Given the description of an element on the screen output the (x, y) to click on. 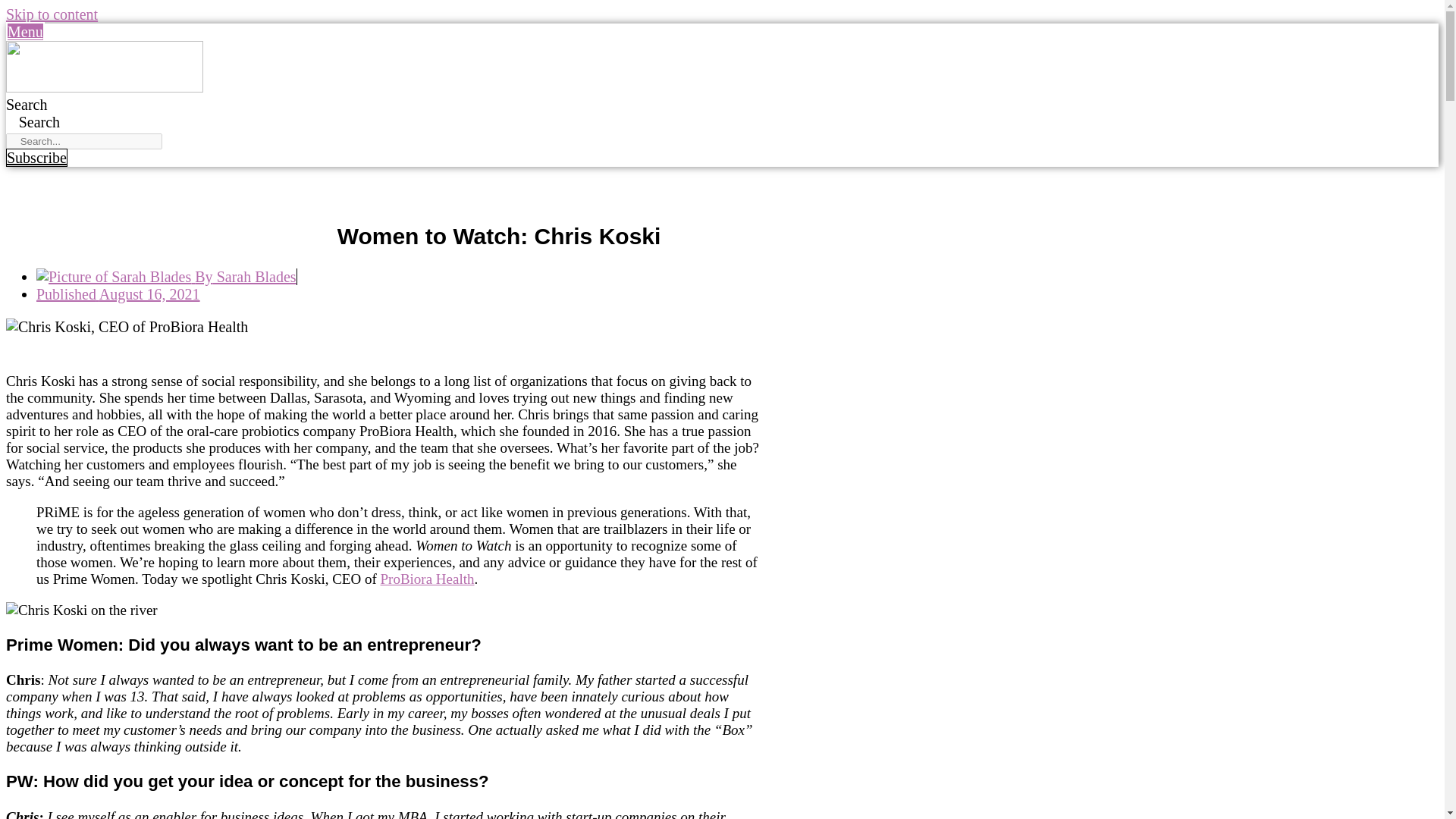
Menu (25, 31)
Skip to content (51, 13)
Subscribe (35, 157)
ProBiora Health (427, 578)
By Sarah Blades (166, 276)
Published August 16, 2021 (118, 293)
